Given the description of an element on the screen output the (x, y) to click on. 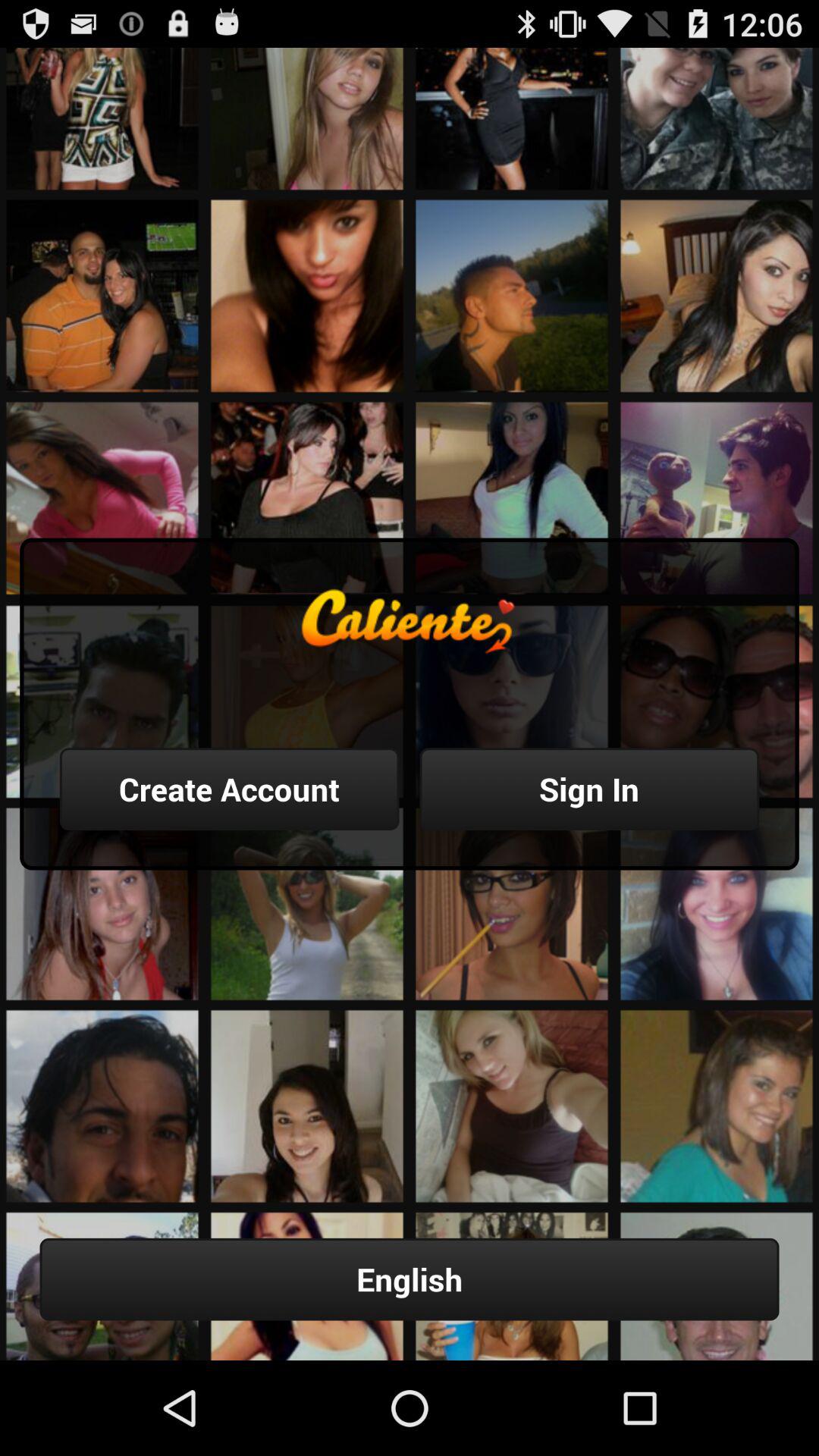
jump to the english icon (409, 1279)
